Given the description of an element on the screen output the (x, y) to click on. 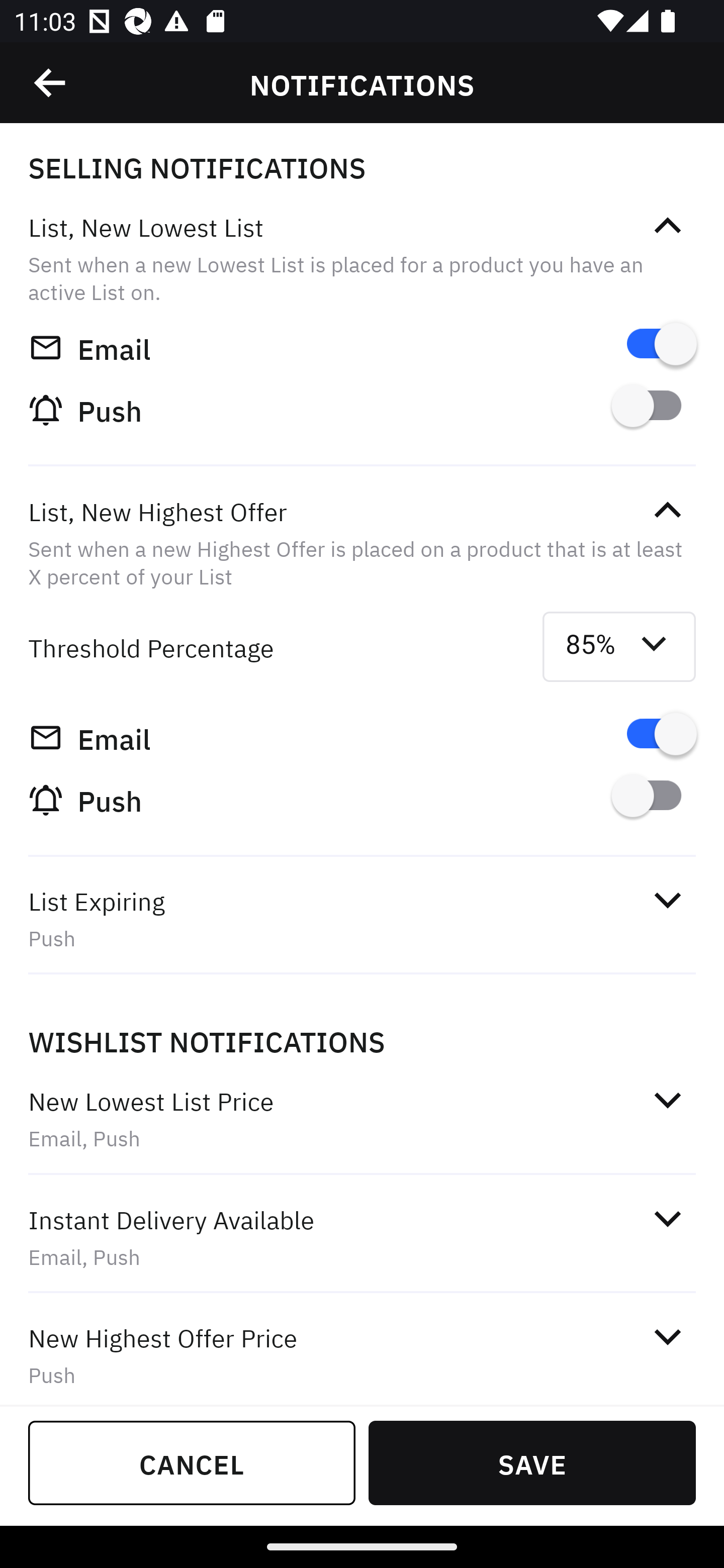
 (50, 83)
 (667, 226)
 (667, 510)
85%  (619, 646)
List Expiring  Push (361, 918)
 (667, 899)
New Lowest List Price  Email, Push (361, 1119)
 (667, 1099)
Instant Delivery Available  Email, Push (361, 1237)
 (667, 1218)
New Highest Offer Price  Push (361, 1350)
 (667, 1336)
CANCEL (191, 1462)
SAVE (531, 1462)
